Given the description of an element on the screen output the (x, y) to click on. 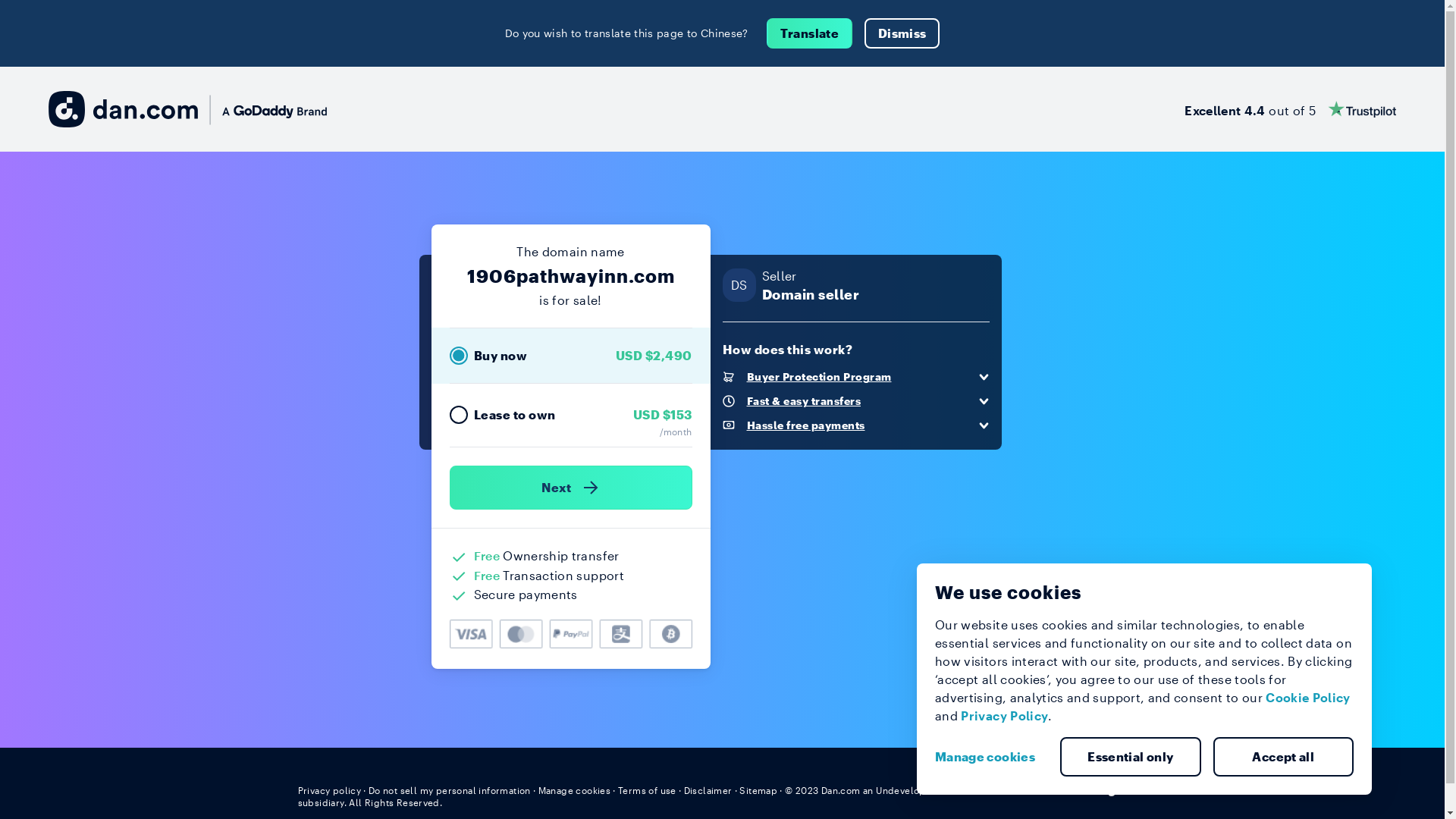
Translate Element type: text (809, 33)
Excellent 4.4 out of 5 Element type: text (1290, 109)
Essential only Element type: text (1130, 756)
Sitemap Element type: text (758, 789)
Manage cookies Element type: text (574, 790)
Terms of use Element type: text (647, 789)
English Element type: text (1119, 789)
Disclaimer Element type: text (708, 789)
Dismiss Element type: text (901, 33)
Manage cookies Element type: text (991, 756)
Privacy Policy Element type: text (1004, 715)
Next
) Element type: text (569, 487)
Cookie Policy Element type: text (1307, 697)
Accept all Element type: text (1283, 756)
Privacy policy Element type: text (328, 789)
Do not sell my personal information Element type: text (449, 789)
